Given the description of an element on the screen output the (x, y) to click on. 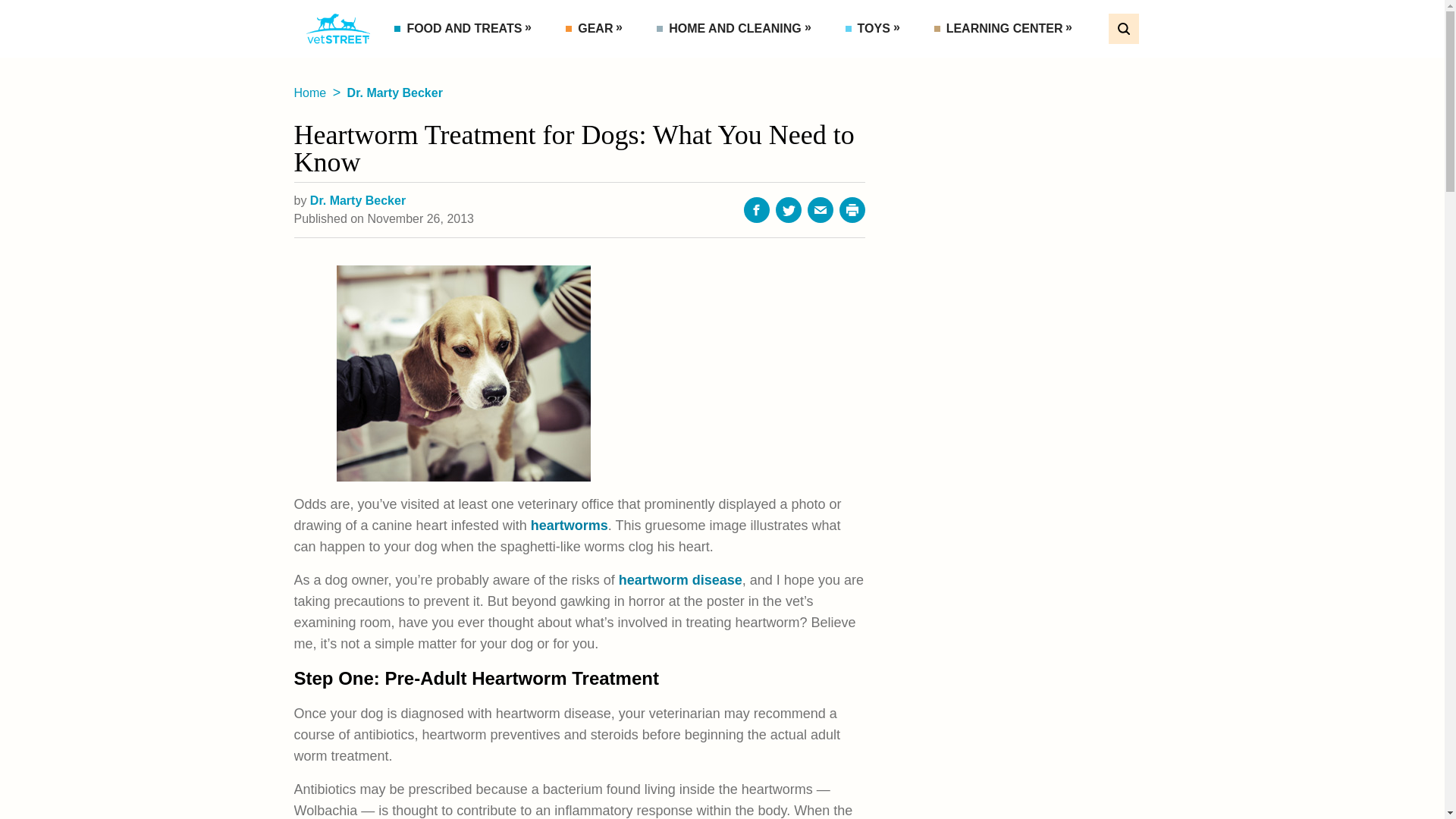
Cat Food (457, 62)
Print (852, 209)
HOME AND CLEANING (736, 28)
Cat Beds (719, 62)
GEAR (596, 28)
TOYS (875, 28)
Dogs (1019, 62)
Share via email (820, 209)
FOOD AND TREATS (465, 28)
Share on Facebook (757, 209)
